Given the description of an element on the screen output the (x, y) to click on. 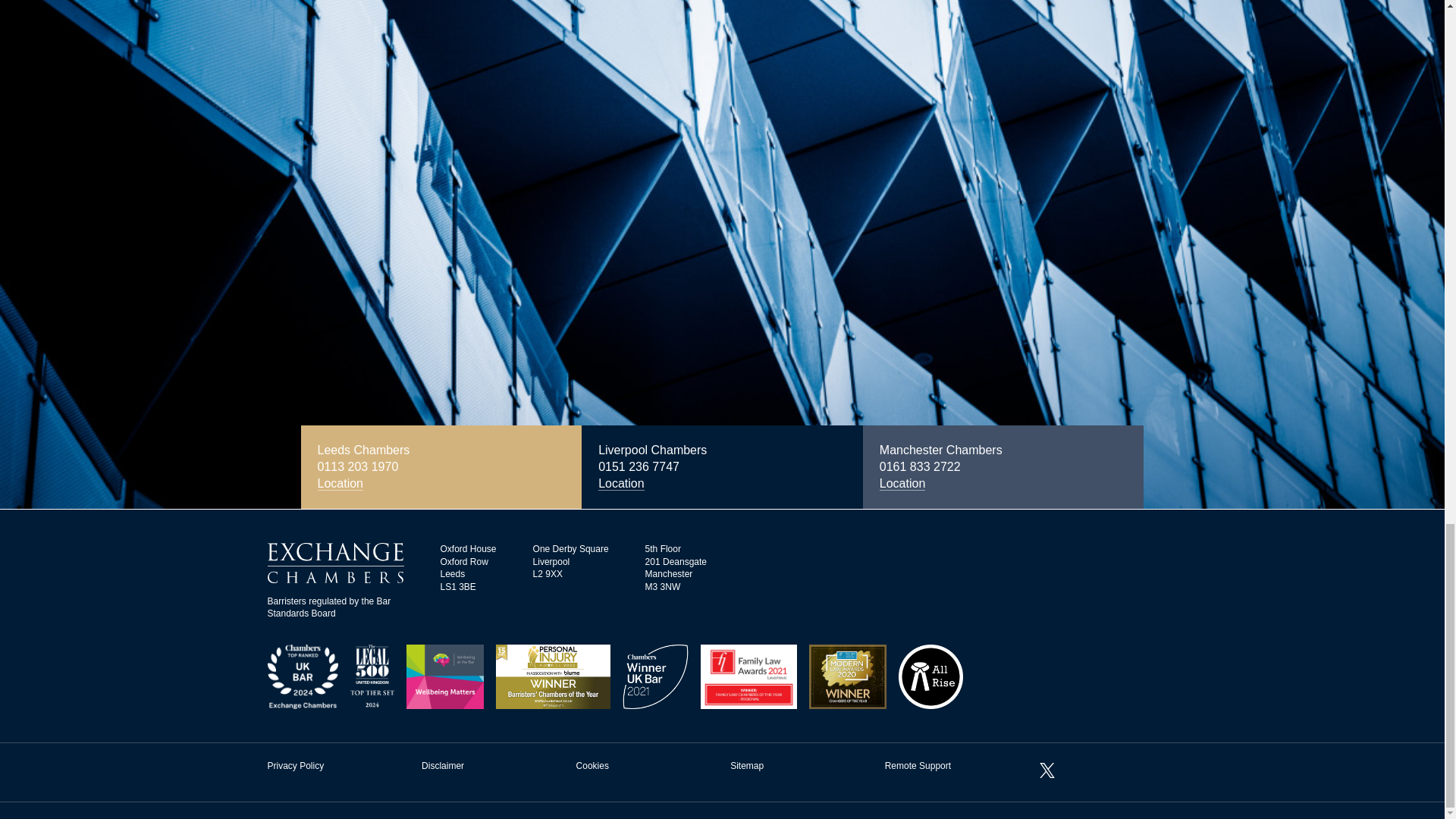
Remote Support (917, 765)
Cookies (592, 765)
Sitemap (746, 765)
Privacy Policy (294, 765)
Disclaimer (443, 765)
